Given the description of an element on the screen output the (x, y) to click on. 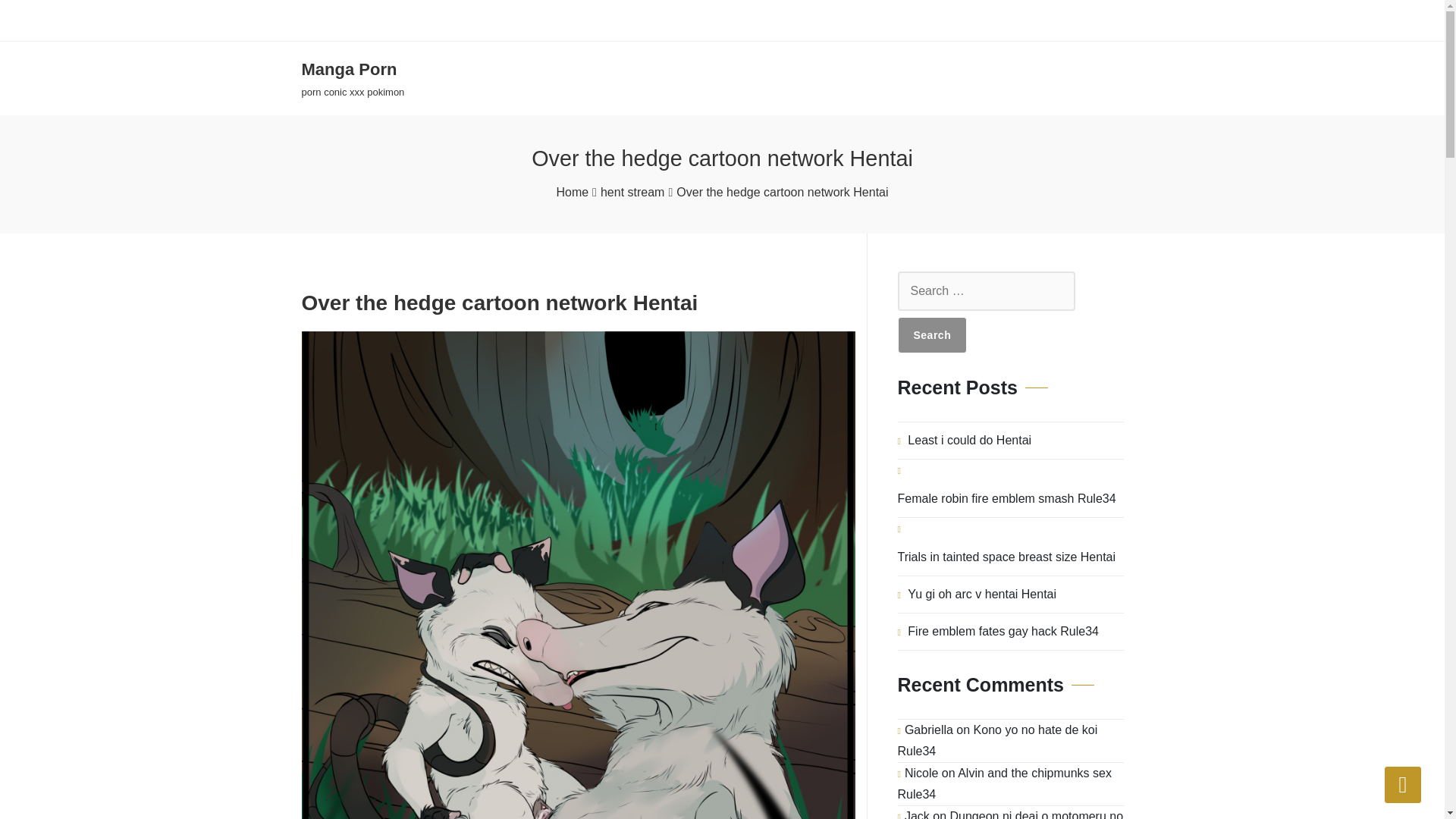
Back To Top (1403, 784)
hent stream (631, 192)
Fire emblem fates gay hack Rule34 (1003, 631)
Kono yo no hate de koi Rule34 (997, 740)
Trials in tainted space breast size Hentai (1007, 556)
Search (933, 334)
Home (572, 192)
Female robin fire emblem smash Rule34 (1007, 498)
Yu gi oh arc v hentai Hentai (982, 594)
